Given the description of an element on the screen output the (x, y) to click on. 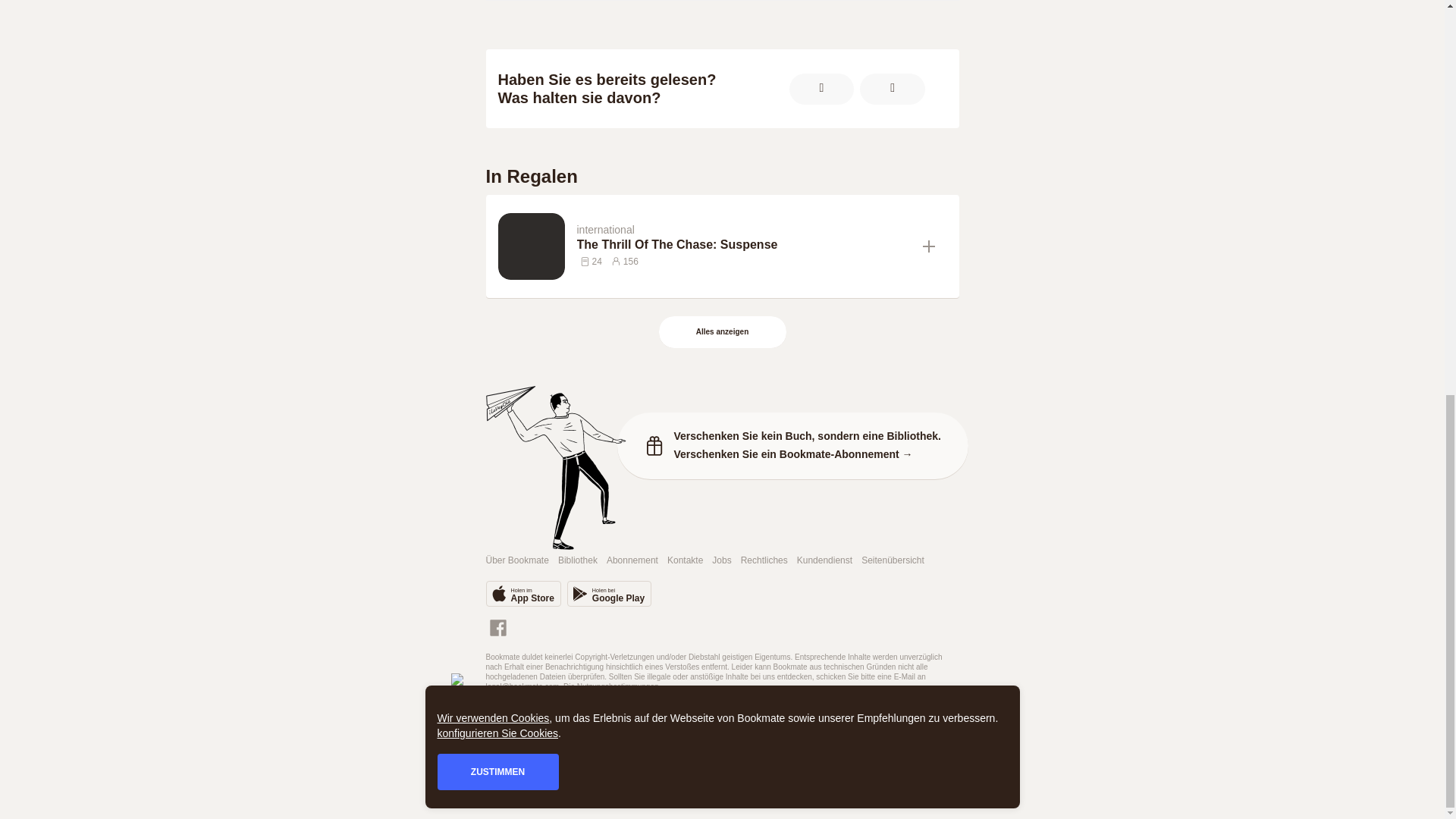
Alles anzeigen (722, 332)
Bibliothek (576, 560)
The Thrill Of The Chase: Suspense (743, 244)
The Thrill Of The Chase: Suspense (743, 244)
Alles anzeigen (722, 331)
Rechtliches (764, 560)
Jobs (720, 560)
Kontakte (684, 560)
Abonnement (632, 560)
